Given the description of an element on the screen output the (x, y) to click on. 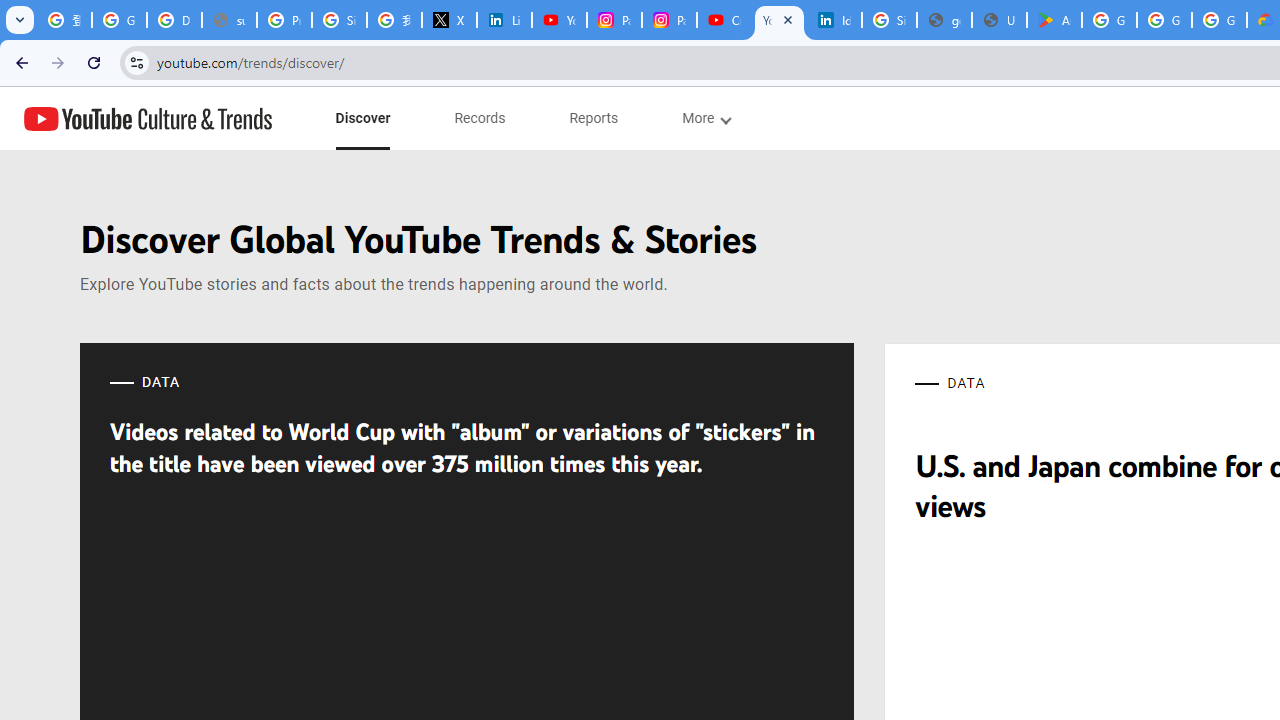
JUMP TO CONTENT (209, 119)
subnav-Records menupopup (479, 118)
subnav-Records menupopup (479, 118)
Google Workspace - Specific Terms (1163, 20)
subnav-Discover menupopup (362, 118)
subnav-Reports menupopup (594, 118)
